Given the description of an element on the screen output the (x, y) to click on. 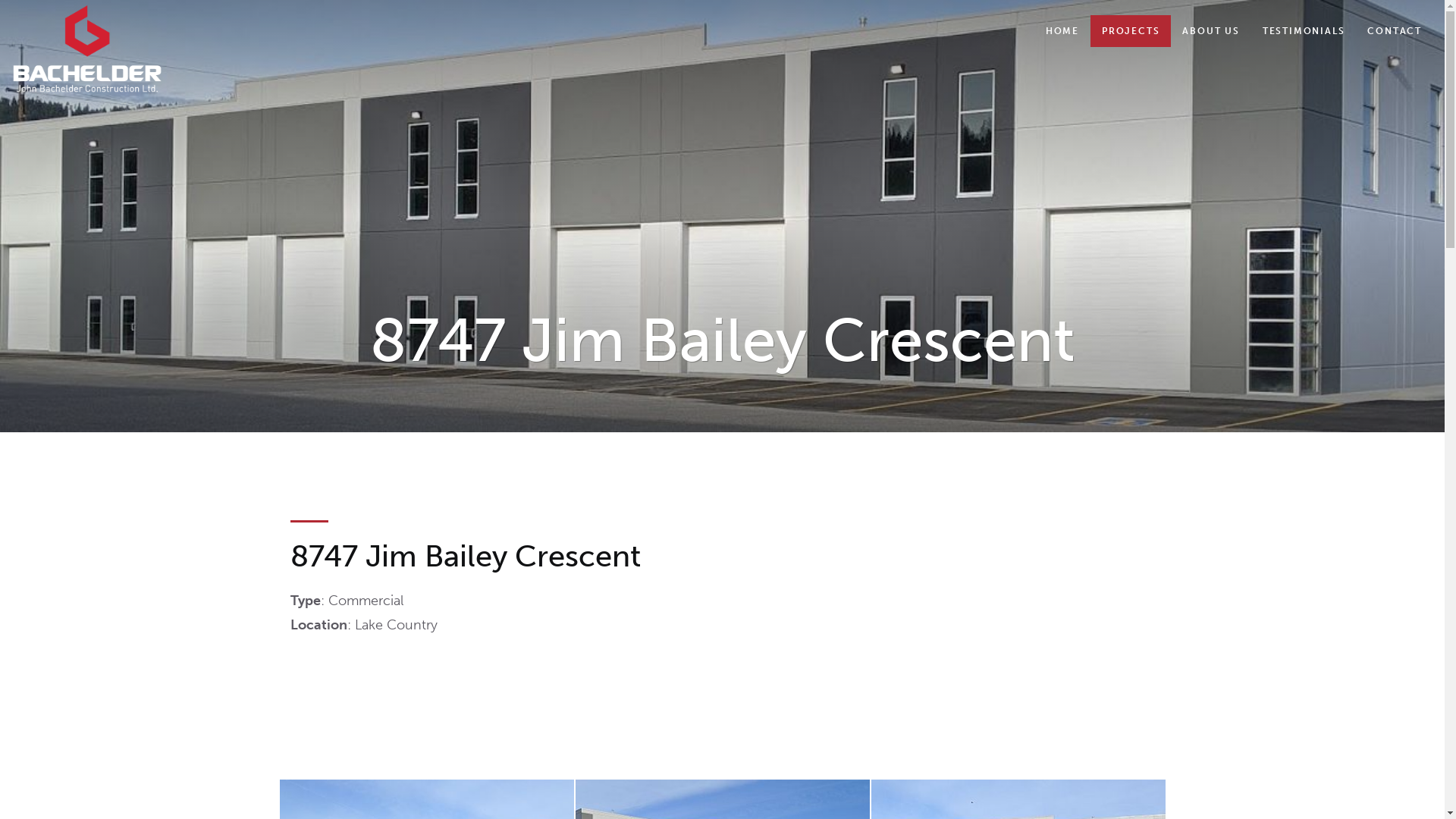
HOME Element type: text (1062, 31)
ABOUT US Element type: text (1210, 31)
John Bachelder Construction Ltd. Element type: hover (87, 48)
CONTACT Element type: text (1394, 31)
PROJECTS Element type: text (1130, 31)
TESTIMONIALS Element type: text (1303, 31)
